Given the description of an element on the screen output the (x, y) to click on. 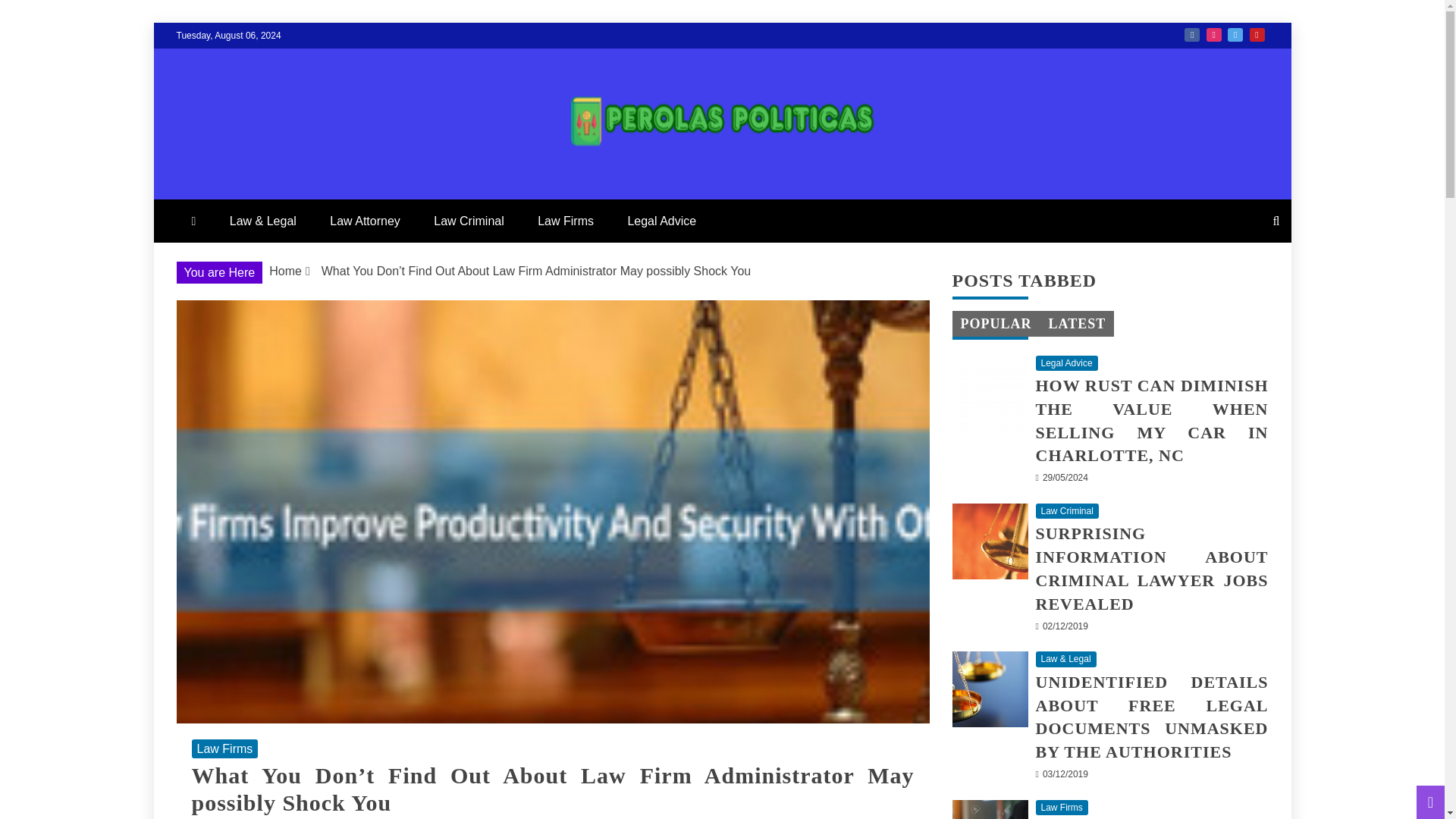
POPULAR (994, 323)
Home (285, 270)
Legal Advice (661, 220)
Law Firms (223, 748)
Facebook (1192, 34)
The Unusual Mystery Into Law Firm Administrator Uncovered (989, 809)
Law Criminal (468, 220)
Twitter (1235, 34)
Surprising Information About Criminal Lawyer Jobs Revealed (989, 541)
